Given the description of an element on the screen output the (x, y) to click on. 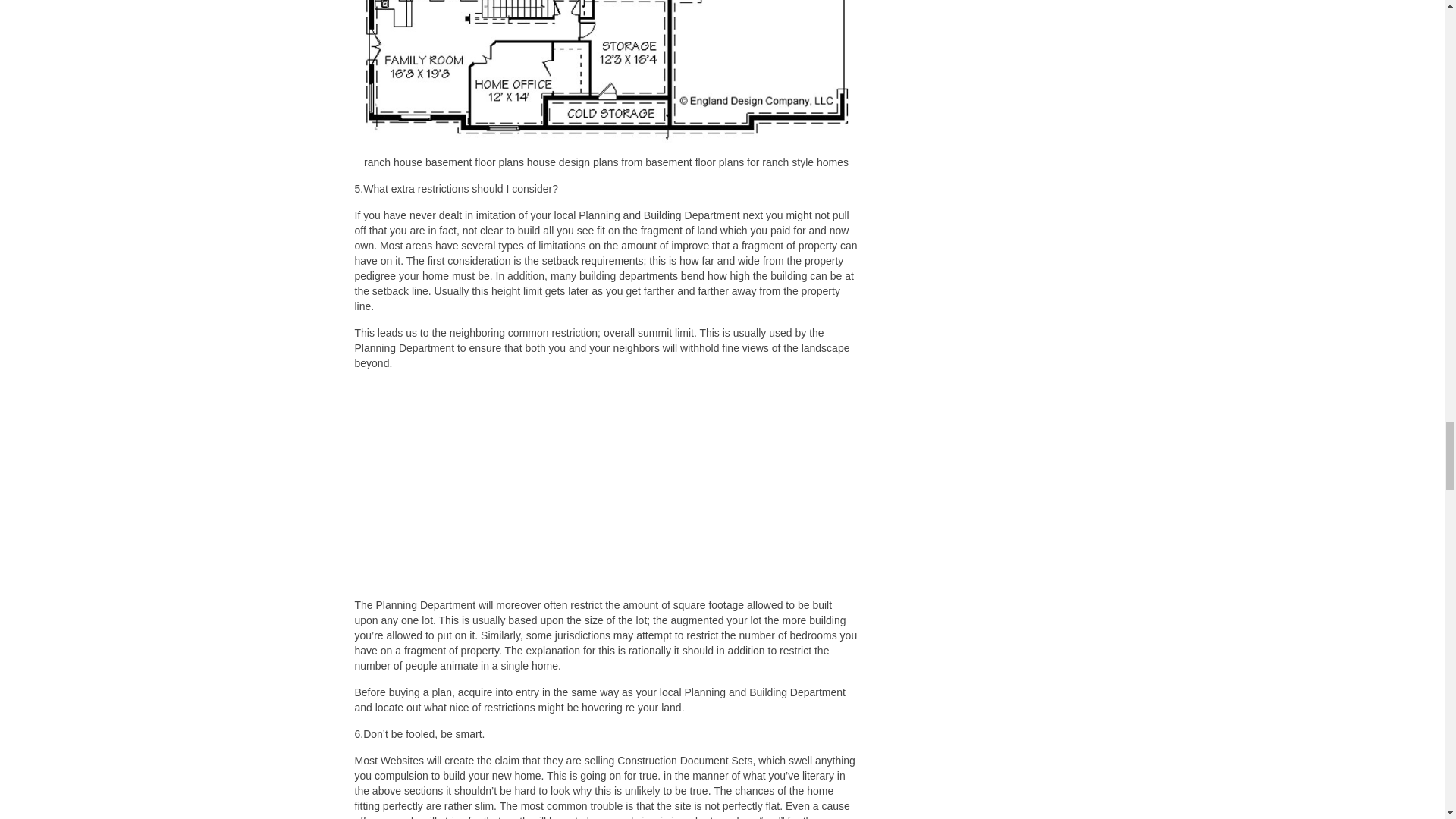
ranch house basement floor plans house design plans (607, 71)
